Given the description of an element on the screen output the (x, y) to click on. 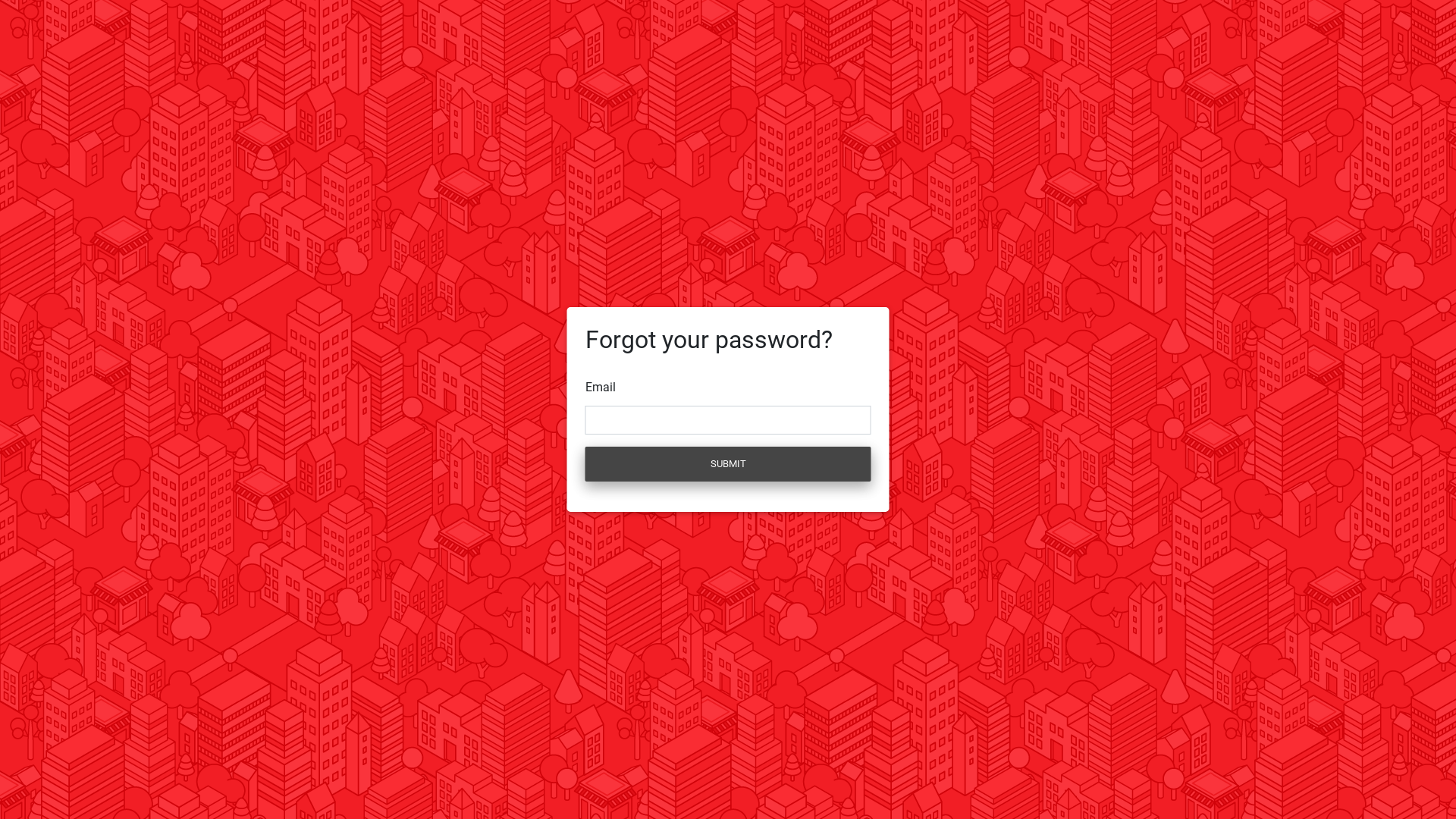
SUBMIT Element type: text (728, 463)
